Given the description of an element on the screen output the (x, y) to click on. 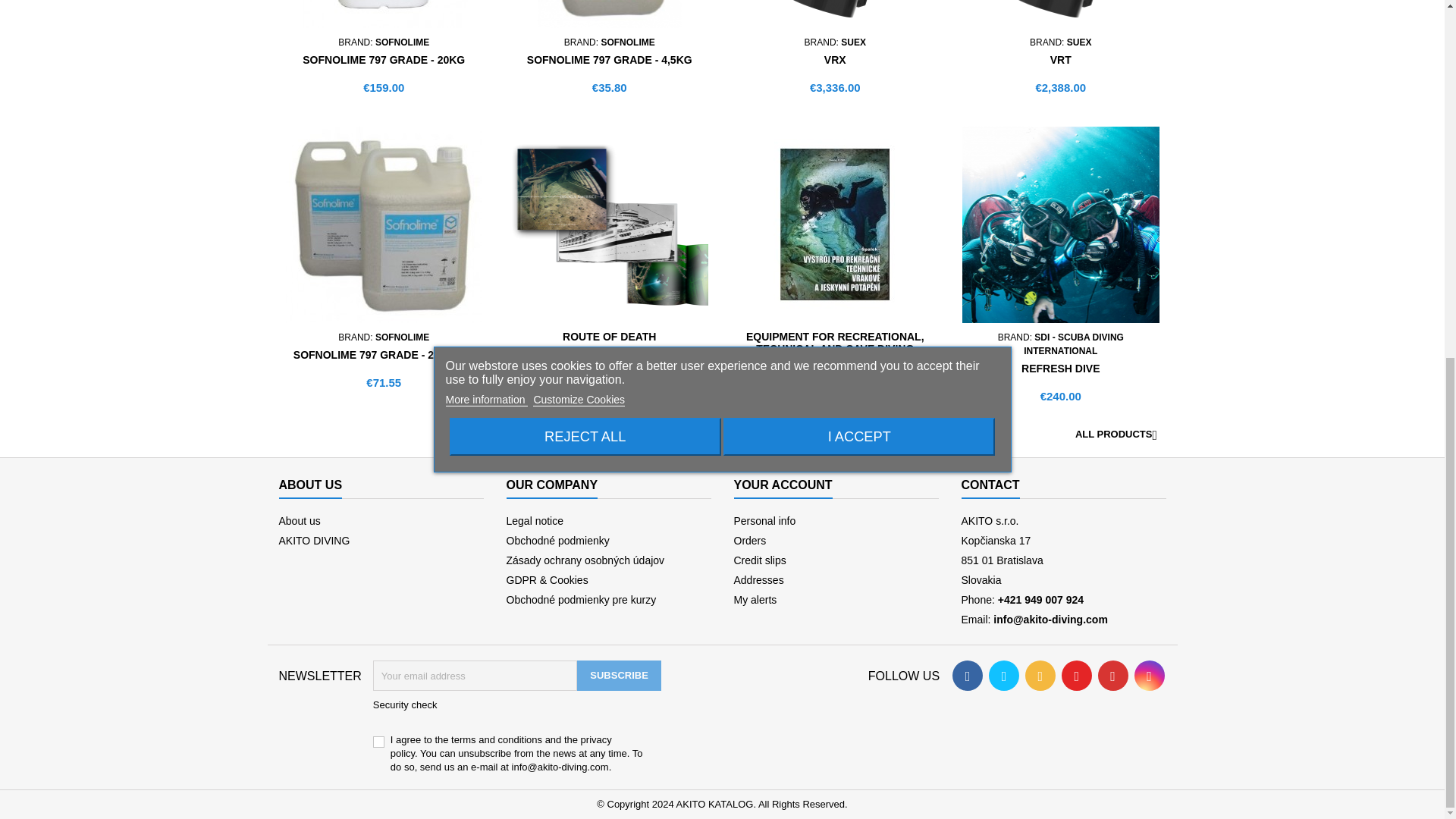
Subscribe (618, 675)
SDI - Scuba Diving International (1073, 344)
about us (299, 521)
SOFNOLIME (626, 41)
SUEX (1079, 41)
SUEX (853, 41)
SOFNOLIME (402, 41)
SOFNOLIME (402, 337)
